Given the description of an element on the screen output the (x, y) to click on. 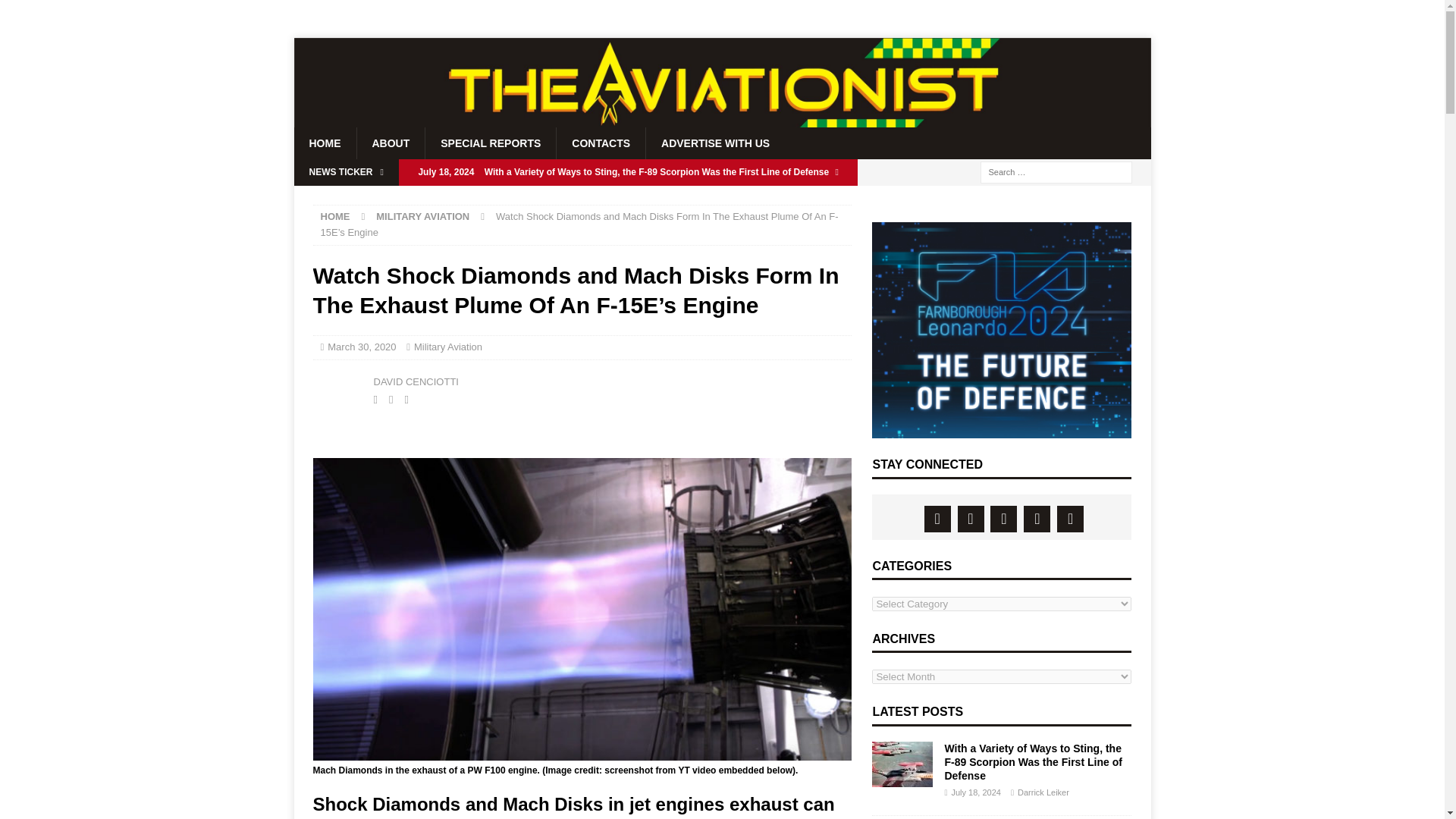
HOME (325, 142)
David Cenciotti (339, 389)
Military Aviation (447, 346)
ABOUT (390, 142)
SPECIAL REPORTS (490, 142)
MILITARY AVIATION (421, 215)
HOME (334, 215)
DAVID CENCIOTTI (415, 381)
The Aviationist (722, 121)
March 30, 2020 (361, 346)
Search (56, 11)
ADVERTISE WITH US (714, 142)
